Given the description of an element on the screen output the (x, y) to click on. 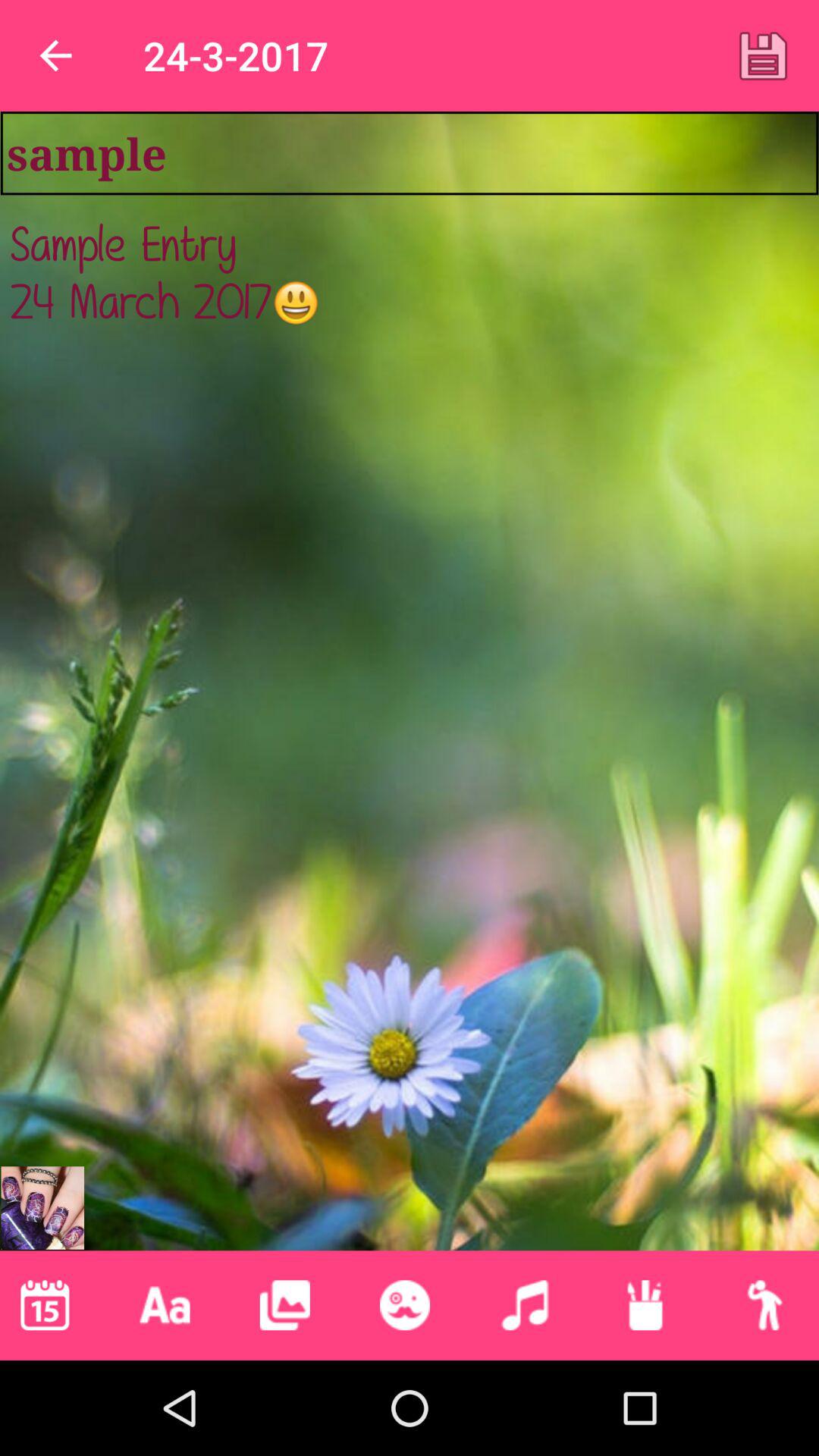
keyboard (164, 1305)
